Given the description of an element on the screen output the (x, y) to click on. 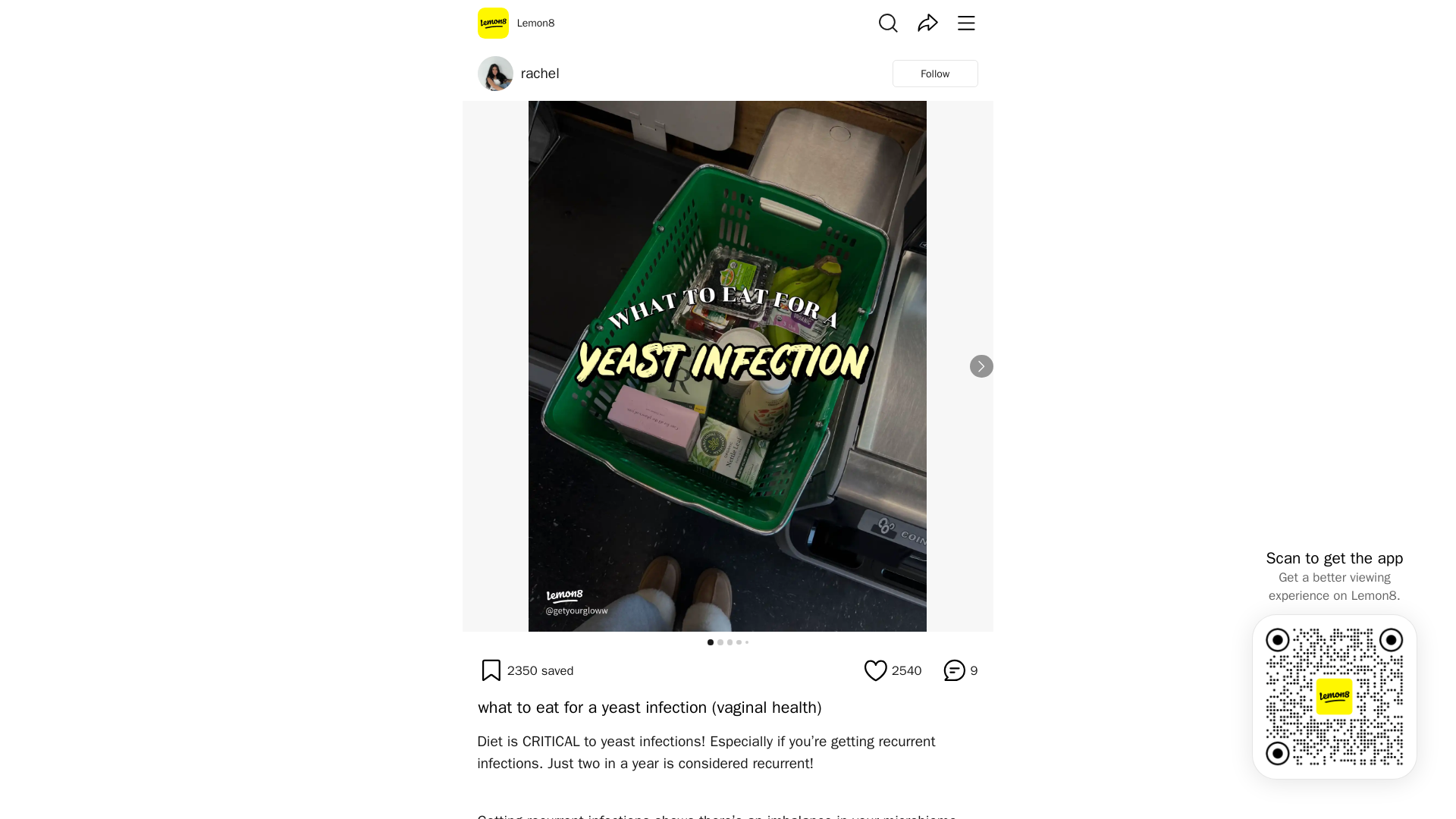
rachel (540, 73)
